Given the description of an element on the screen output the (x, y) to click on. 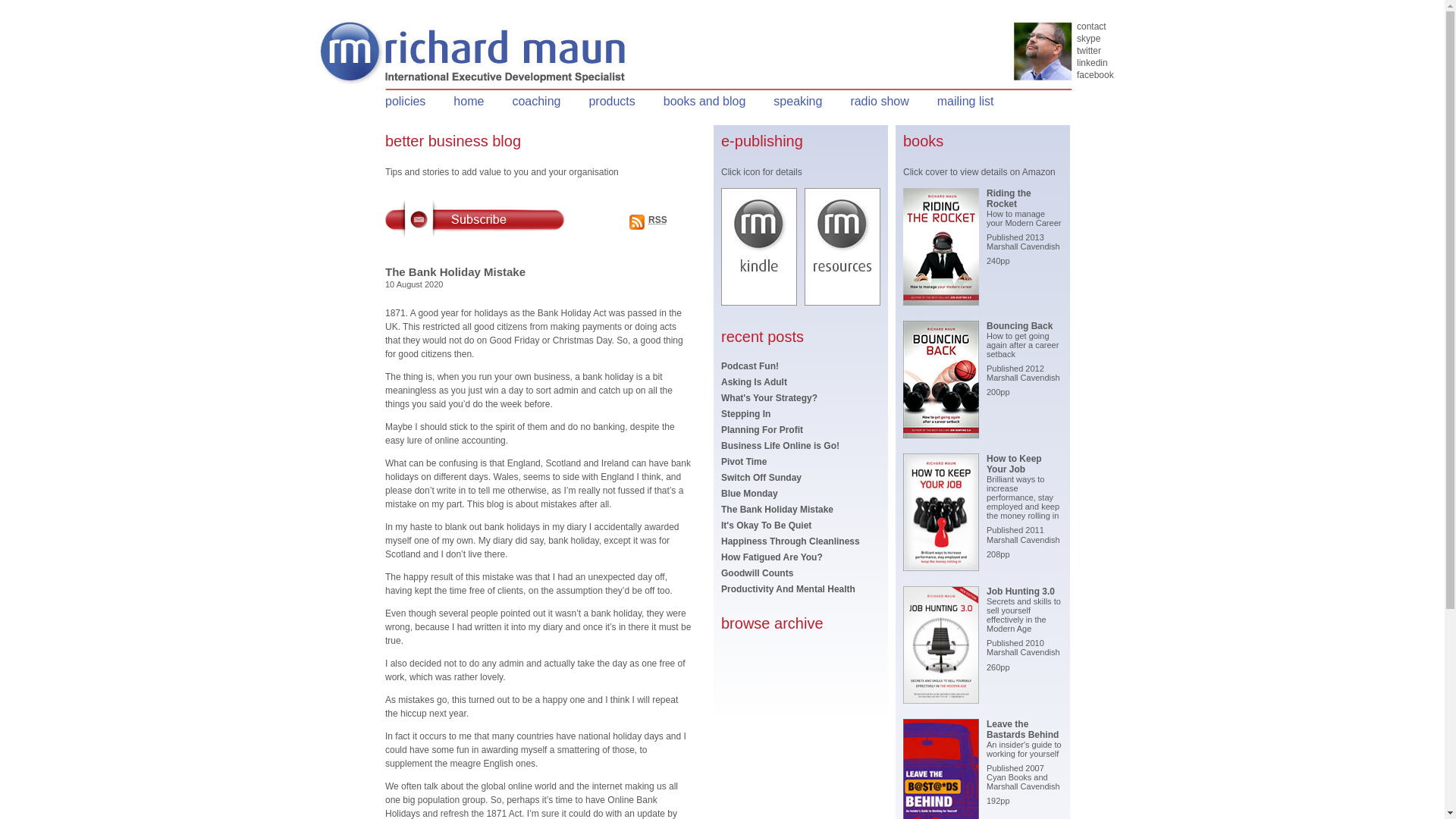
RSS Feed (636, 222)
mailing list (965, 101)
products (611, 101)
Look It's Okay To Be Quiet (765, 525)
Look The Bank Holiday Mistake (776, 509)
What's Your Strategy? (768, 398)
Look Stepping In (745, 413)
Look Switch Off Sunday (761, 477)
policies (405, 101)
Goodwill Counts (756, 573)
Pivot Time (743, 461)
Look Asking Is Adult (753, 381)
Stepping In (745, 413)
Look Blue Monday (748, 493)
twitter (1095, 51)
